Given the description of an element on the screen output the (x, y) to click on. 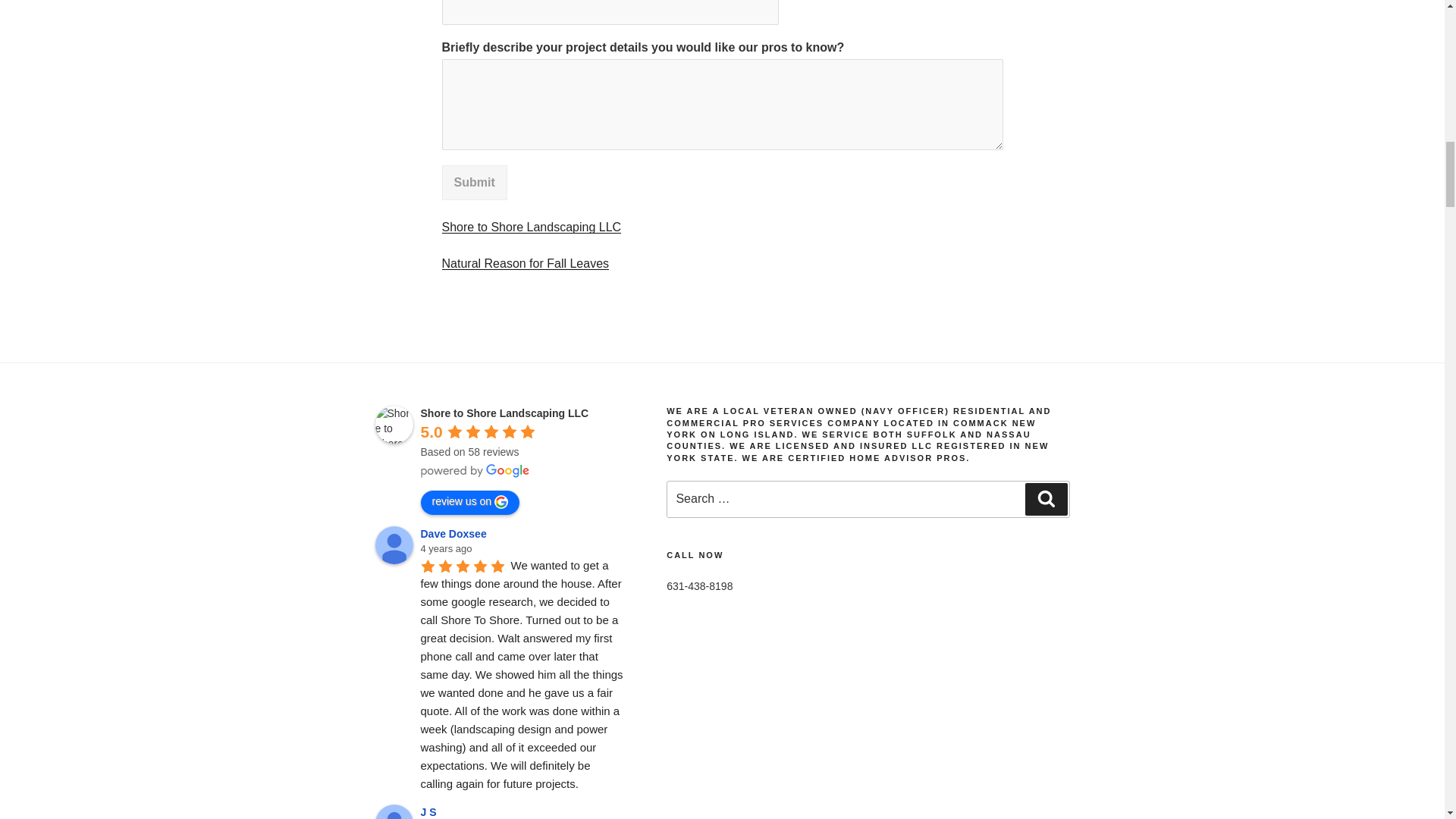
Shore to Shore Landscaping LLC (393, 424)
J S (430, 811)
Dave Doxsee (455, 533)
Submit (473, 182)
powered by Google (474, 470)
Shore to Shore Landscaping LLC (531, 226)
Dave Doxsee (393, 545)
J S (393, 811)
review us on (469, 502)
Shore to Shore Landscaping LLC (504, 413)
